Given the description of an element on the screen output the (x, y) to click on. 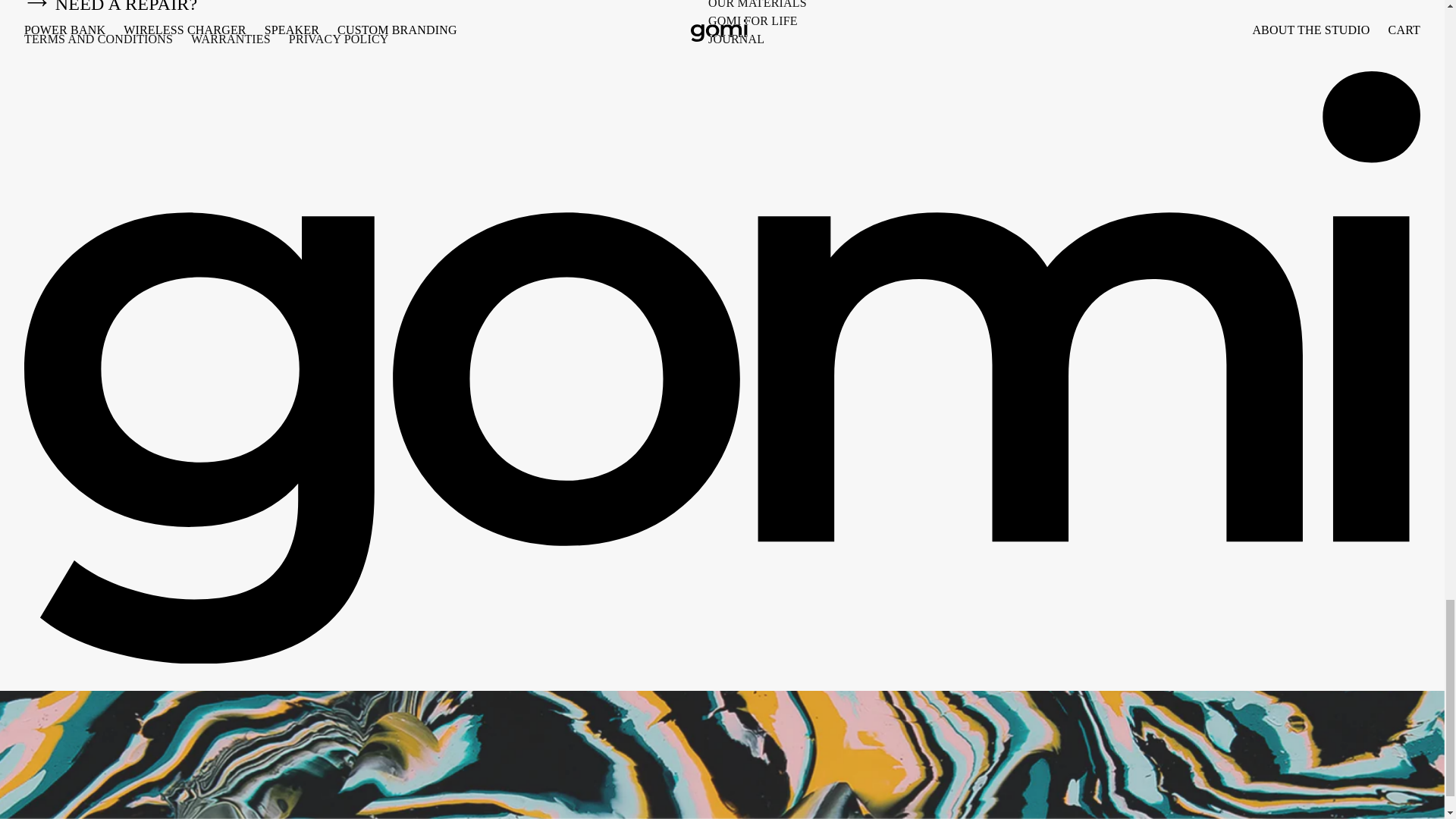
WARRANTIES (230, 38)
OUR MATERIALS (756, 5)
JOURNAL (735, 38)
NEED A REPAIR? (365, 9)
TERMS AND CONDITIONS (98, 38)
GOMI FOR LIFE (752, 20)
PRIVACY POLICY (338, 38)
